Given the description of an element on the screen output the (x, y) to click on. 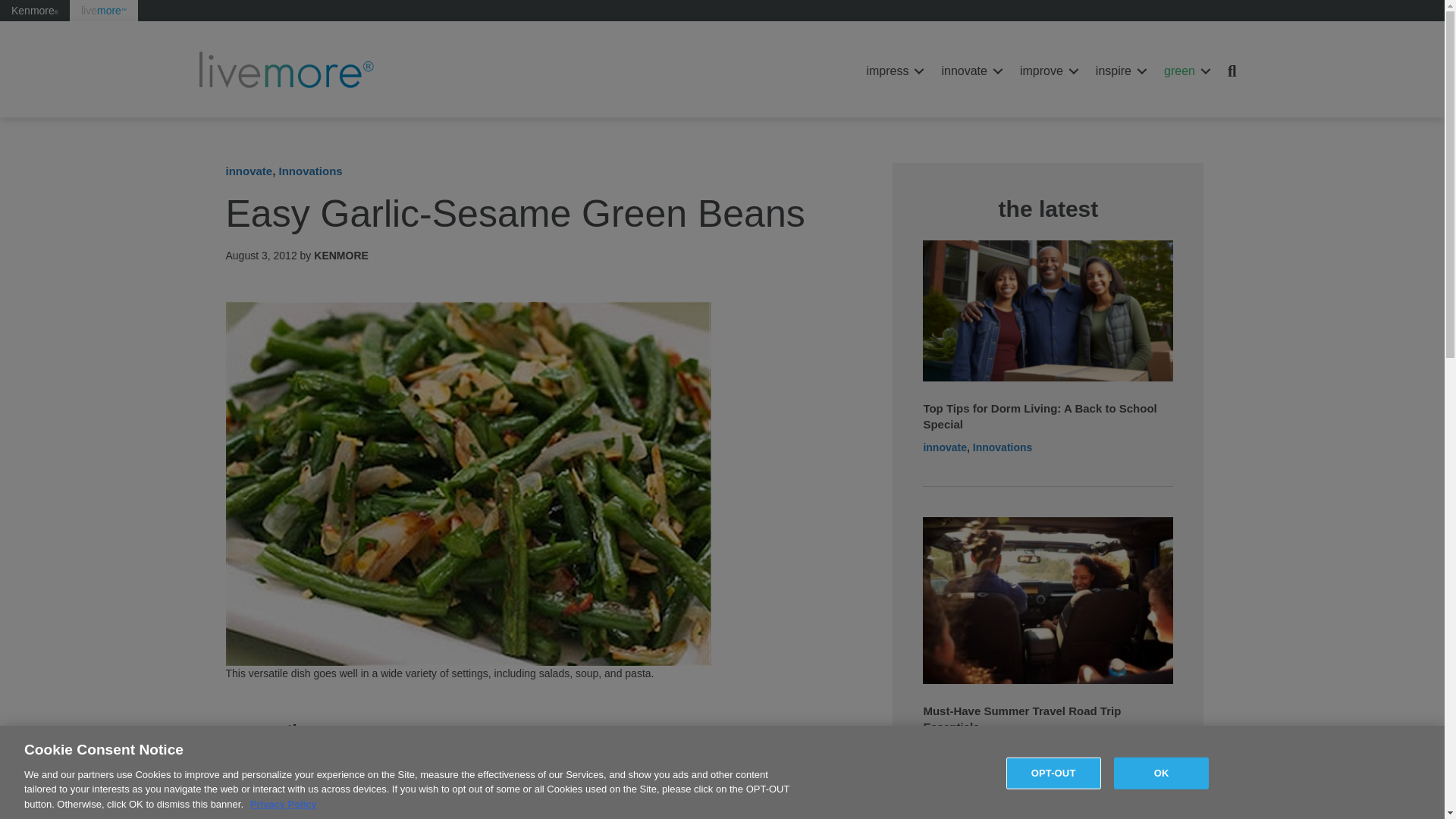
Must-Have Summer Travel Road Trip Essentials (1022, 718)
Top Tips for Dorm Living: A Back to School Special (1048, 309)
Must-Have Summer Travel Road Trip Essentials (1048, 598)
Top Tips for Dorm Living: A Back to School Special (1039, 416)
innovate (969, 70)
LiveMore-Logo (288, 71)
inspire (1118, 70)
green (1184, 70)
search (1235, 71)
Visit Kenmore.com (34, 10)
